Given the description of an element on the screen output the (x, y) to click on. 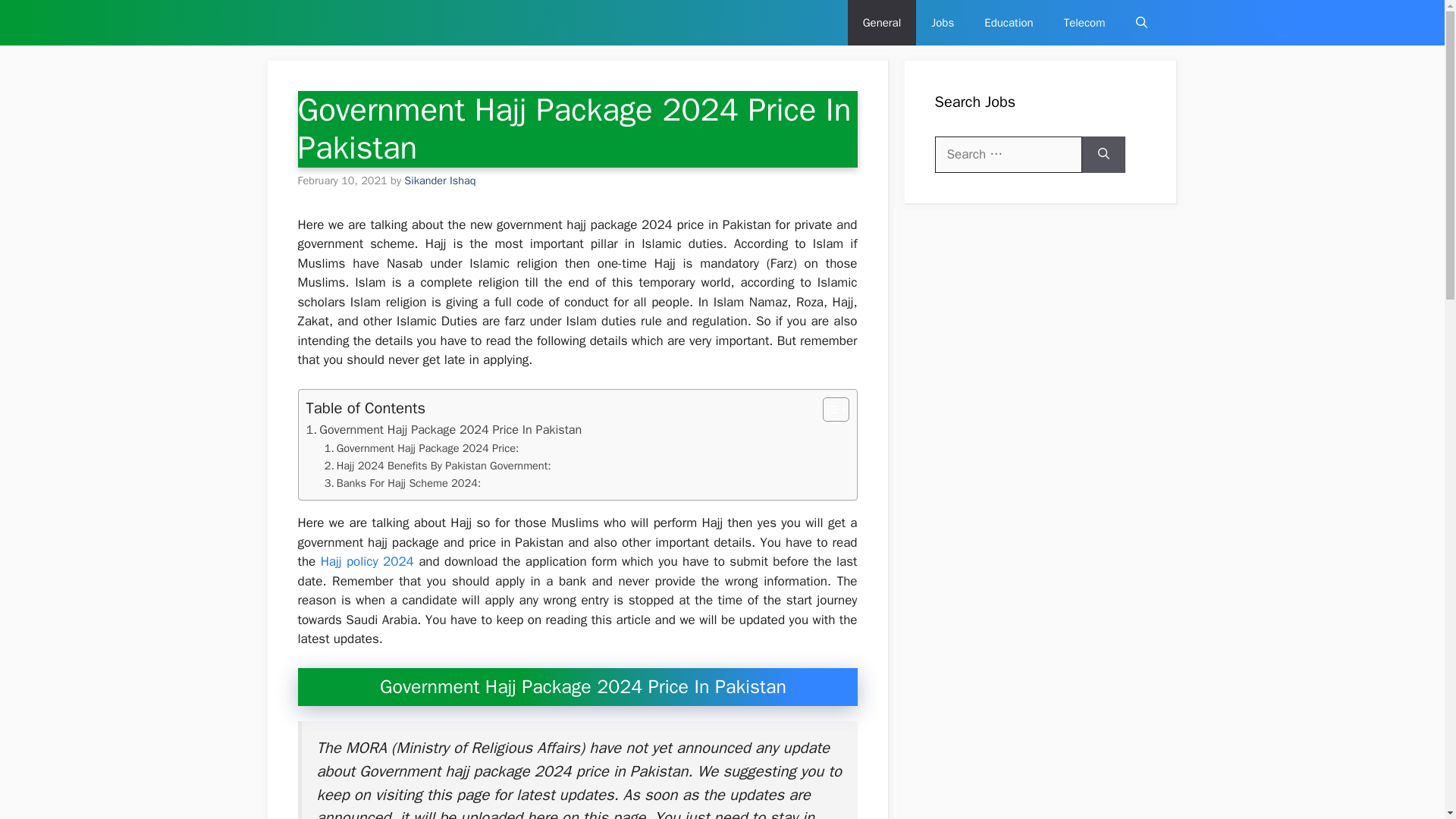
Banks For Hajj Scheme 2024: (402, 483)
Hajj 2024 Benefits By Pakistan Government: (437, 466)
Hajj policy 2024 (366, 561)
Sikander Ishaq (440, 180)
General (882, 22)
Telecom (1084, 22)
Government Hajj Package 2024 Price In Pakistan (443, 429)
View all posts by Sikander Ishaq (440, 180)
Banks For Hajj Scheme 2024: (402, 483)
Government Hajj Package 2024 Price In Pakistan (443, 429)
